Given the description of an element on the screen output the (x, y) to click on. 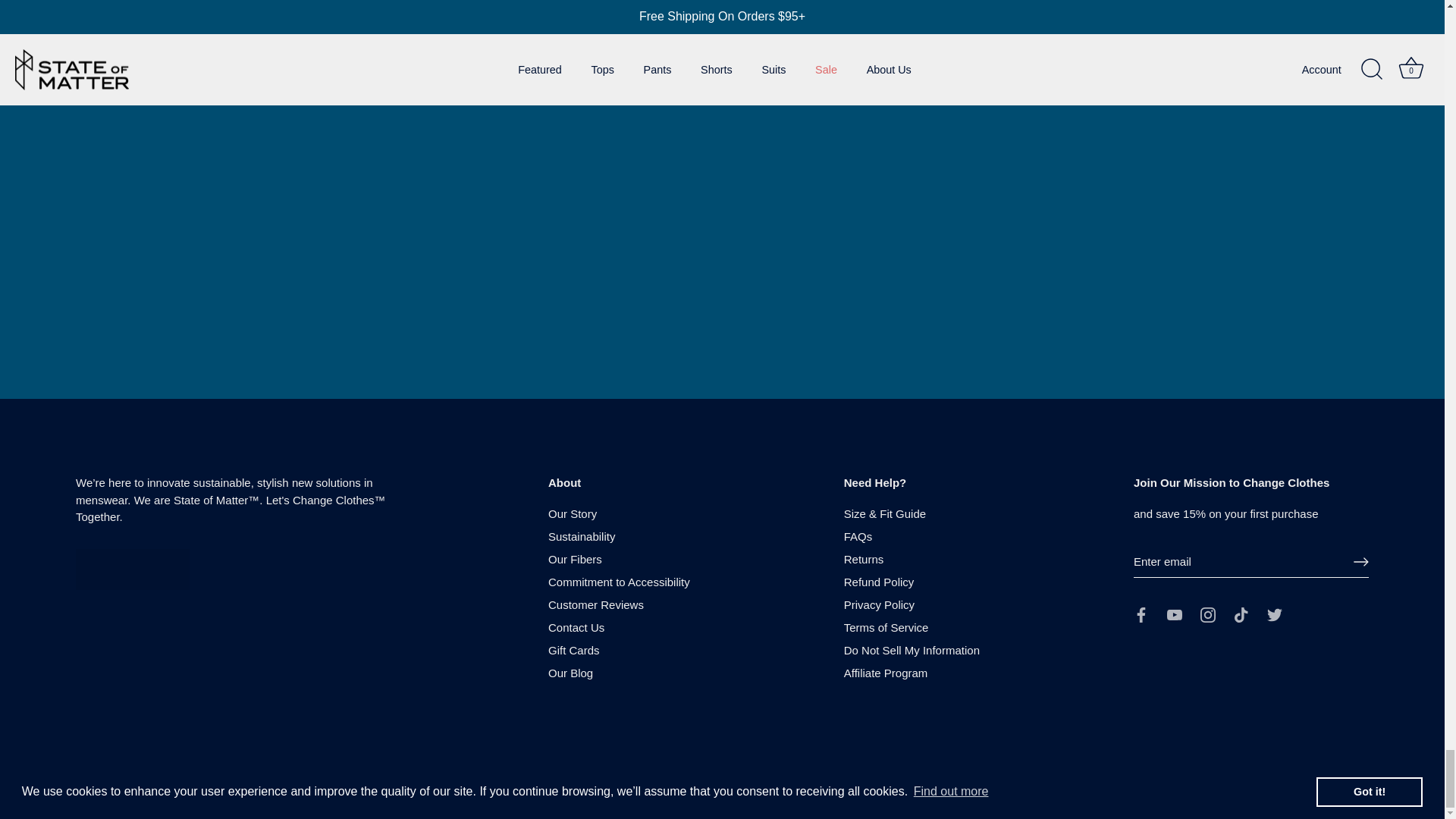
Youtube (1174, 614)
RIGHT ARROW LONG (1361, 561)
Twitter (1274, 614)
Instagram (1207, 614)
